Given the description of an element on the screen output the (x, y) to click on. 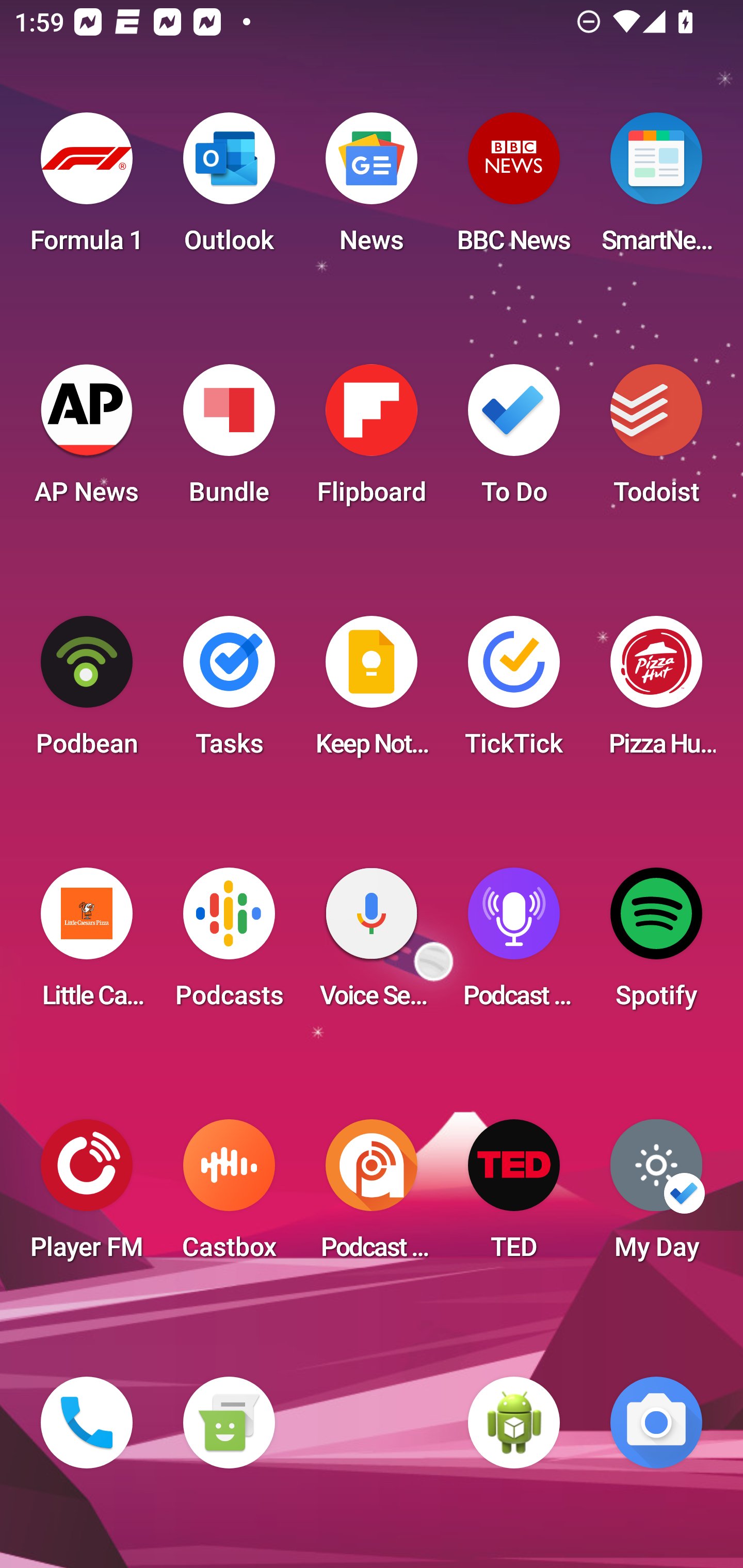
Formula 1 (86, 188)
Outlook (228, 188)
News (371, 188)
BBC News (513, 188)
SmartNews (656, 188)
AP News (86, 440)
Bundle (228, 440)
Flipboard (371, 440)
To Do (513, 440)
Todoist (656, 440)
Podbean (86, 692)
Tasks (228, 692)
Keep Notes (371, 692)
TickTick (513, 692)
Pizza Hut HK & Macau (656, 692)
Little Caesars Pizza (86, 943)
Podcasts (228, 943)
Voice Search (371, 943)
Podcast Player (513, 943)
Spotify (656, 943)
Player FM (86, 1195)
Castbox (228, 1195)
Podcast Addict (371, 1195)
TED (513, 1195)
My Day (656, 1195)
Phone (86, 1422)
Messaging (228, 1422)
WebView Browser Tester (513, 1422)
Camera (656, 1422)
